Given the description of an element on the screen output the (x, y) to click on. 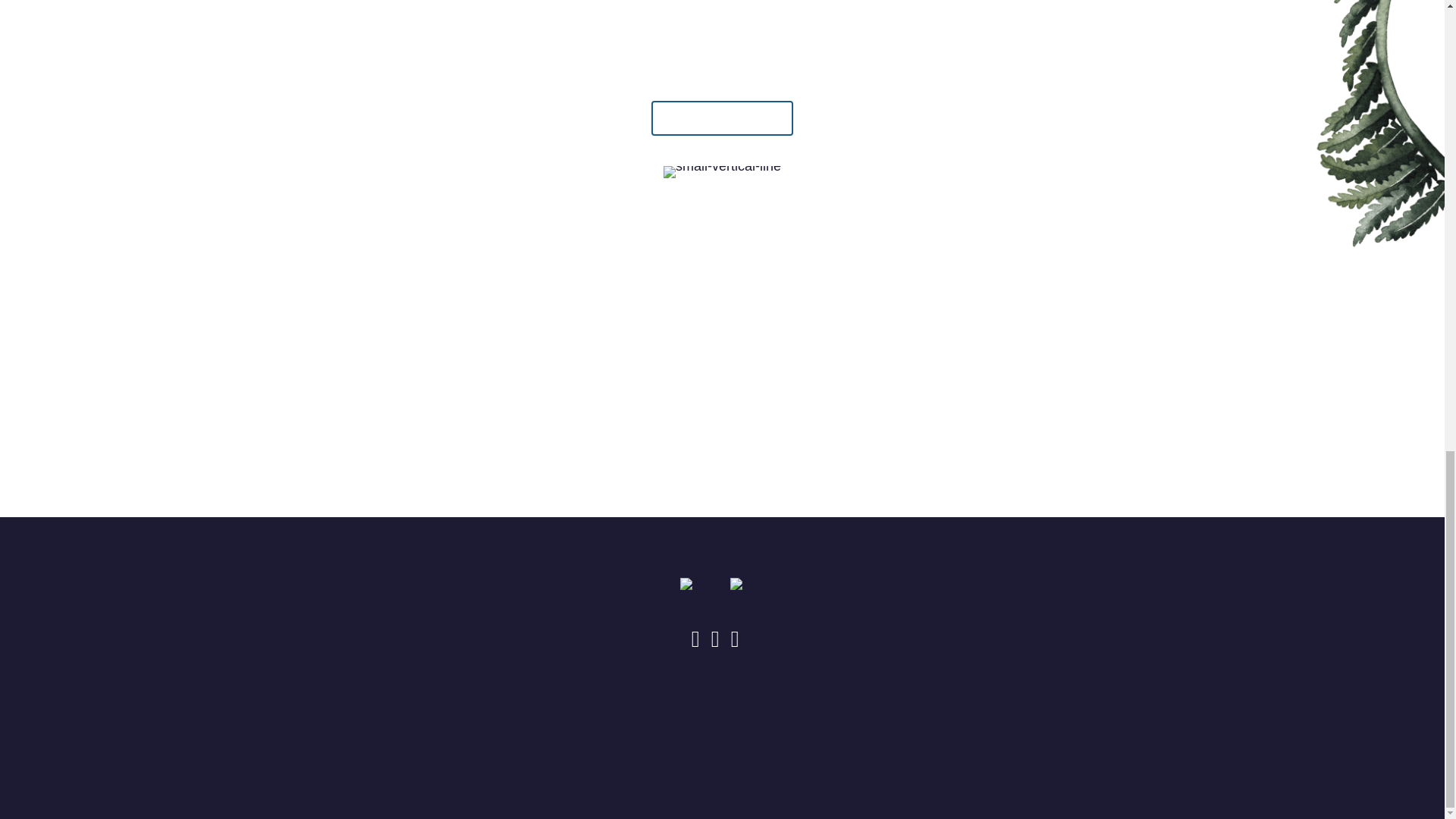
1 (689, 583)
sp-logo (758, 583)
LOGIN (992, 738)
PRESS (827, 738)
INCLUSIVITY (740, 738)
SITE BY FO (910, 738)
PRIVACY POLICY (626, 738)
small-vertical-line (721, 172)
